Given the description of an element on the screen output the (x, y) to click on. 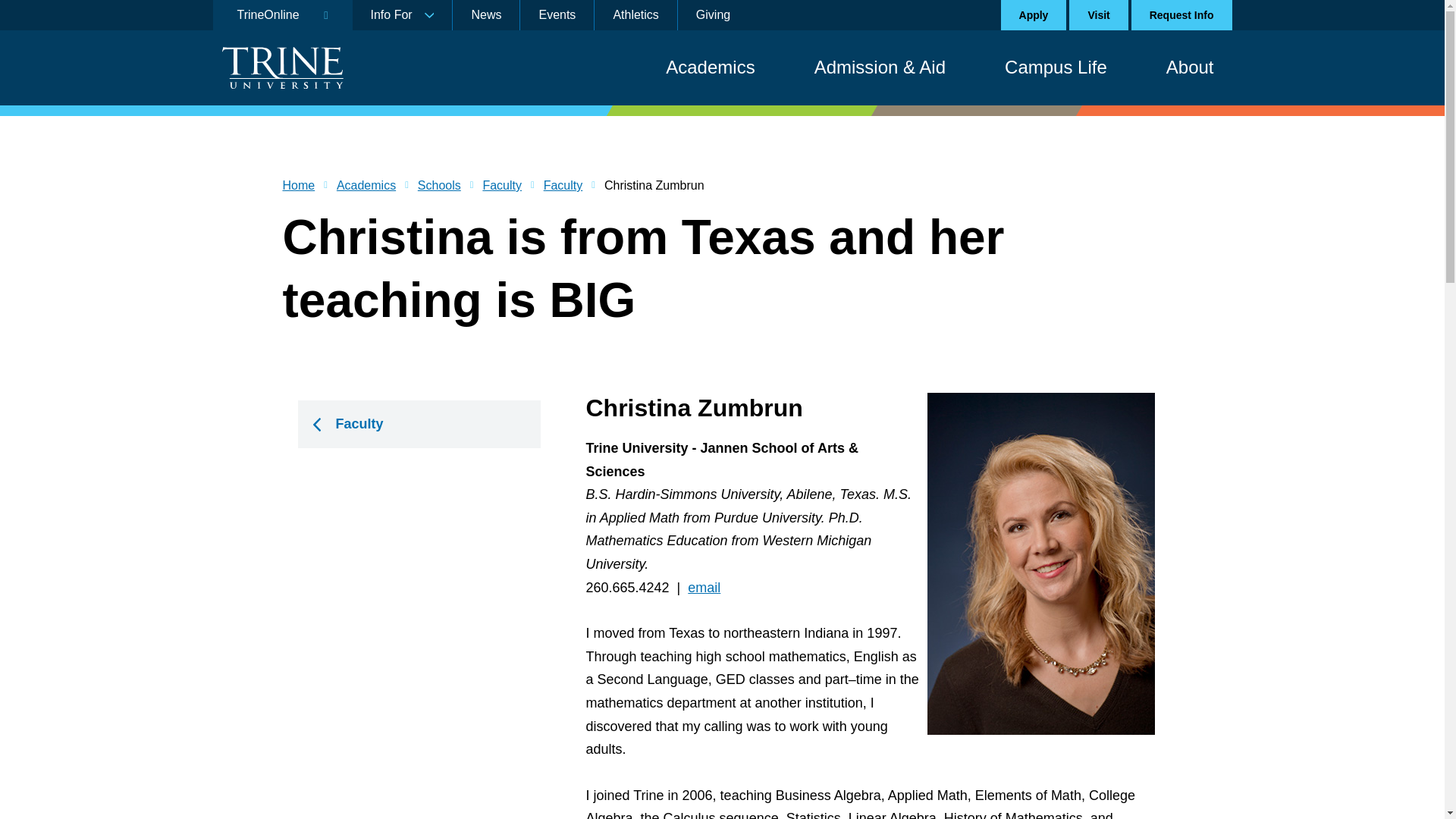
Go to parent page: Home (298, 185)
Request information from Trine University (1181, 15)
Go to parent page: Academics (366, 185)
Go to parent page: Schools (439, 185)
Apply to Trine University (1034, 15)
Academics (709, 67)
Visit Trine University (1097, 15)
Home page for Trine University (281, 67)
Go to parent page: Faculty (563, 185)
Go to parent page: Faculty (501, 185)
